Given the description of an element on the screen output the (x, y) to click on. 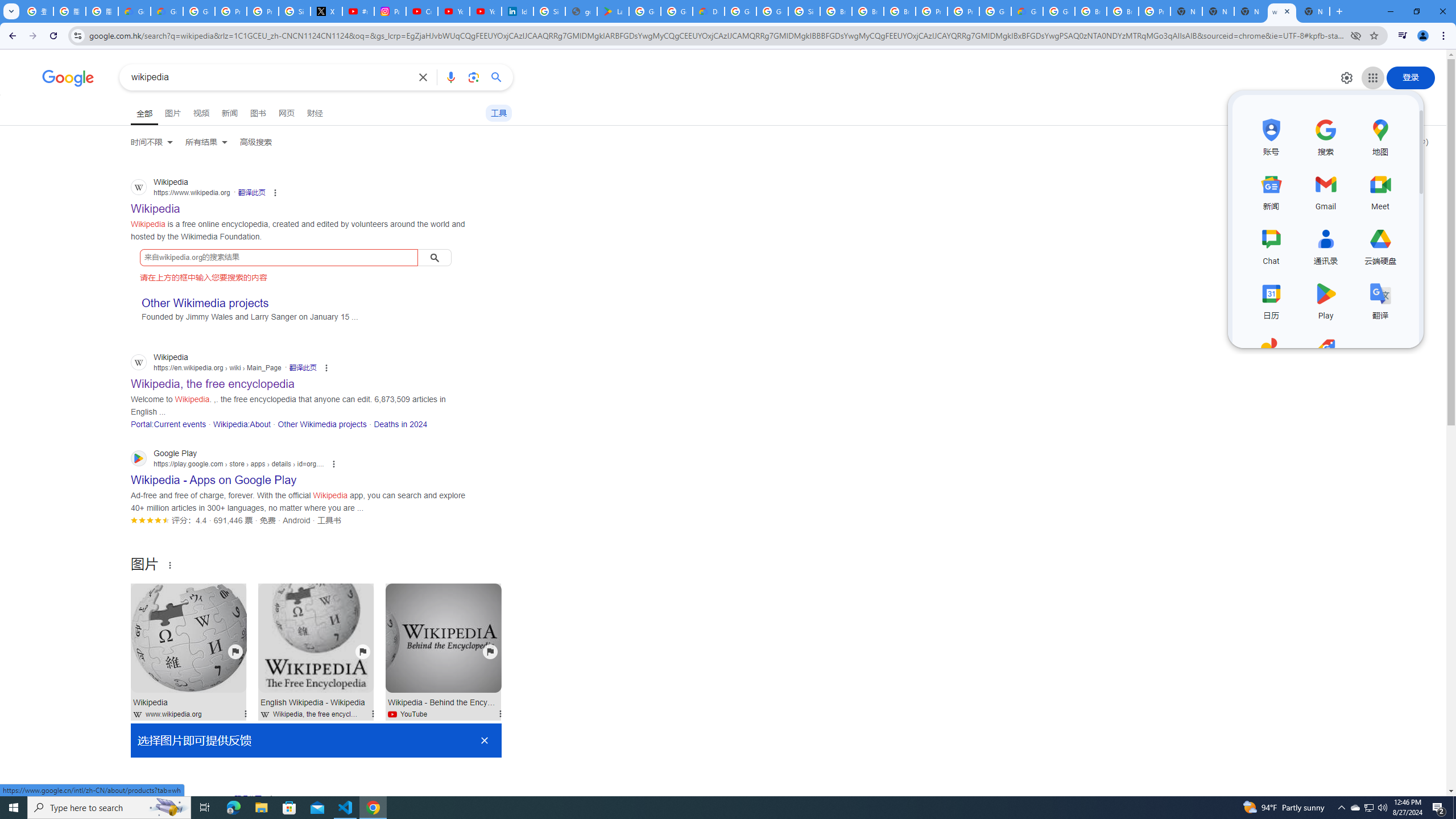
Portal:Current events (168, 424)
Privacy Help Center - Policies Help (262, 11)
Browse Chrome as a guest - Computer - Google Chrome Help (899, 11)
Control your music, videos, and more (1402, 35)
Browse Chrome as a guest - Computer - Google Chrome Help (1091, 11)
X (326, 11)
